Given the description of an element on the screen output the (x, y) to click on. 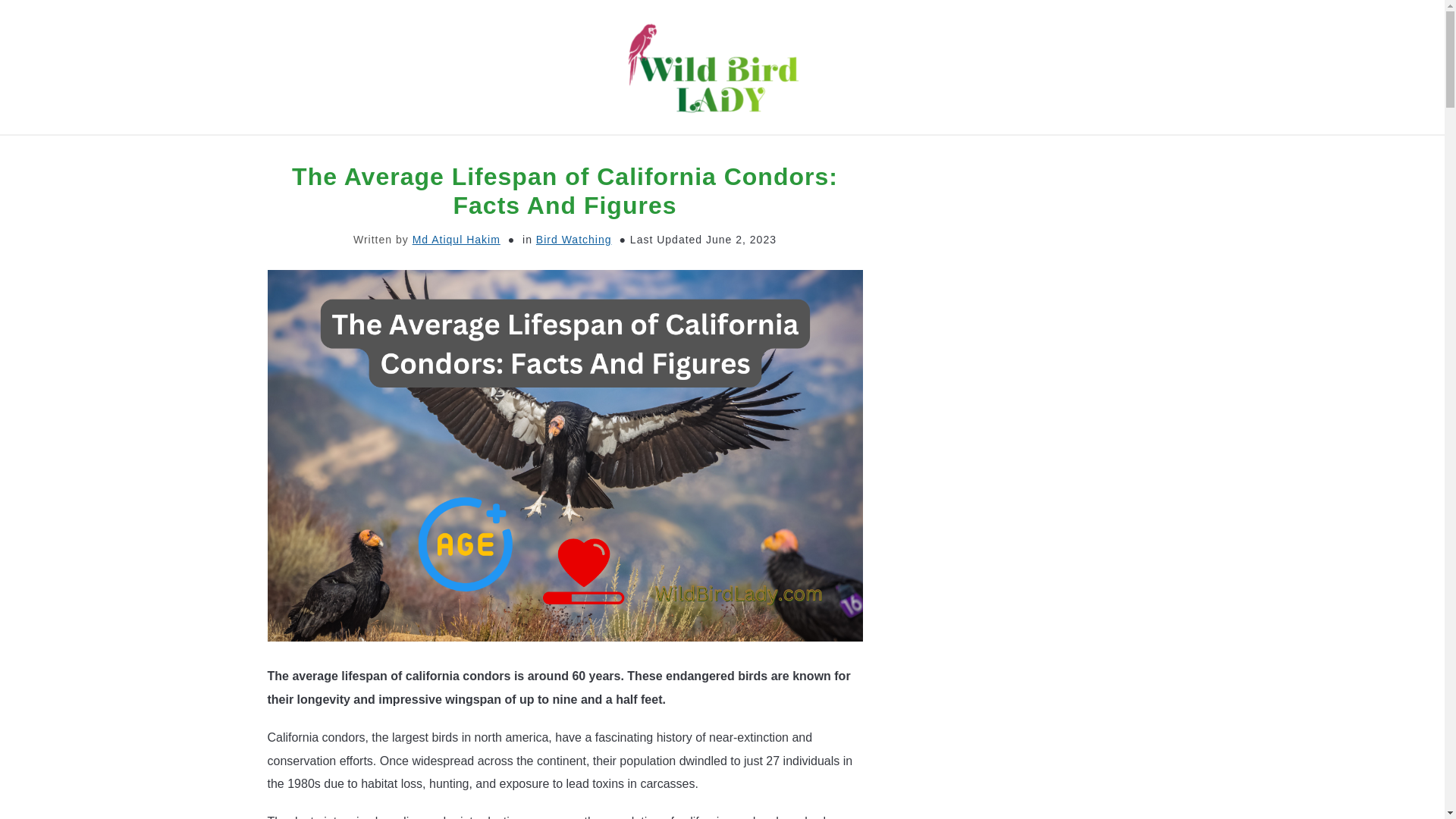
BIRD WATCHING (623, 152)
Bird Watching (573, 239)
BIRD FACTS (835, 152)
Md Atiqul Hakim (456, 239)
BIRDING (736, 152)
Search (1203, 67)
